Given the description of an element on the screen output the (x, y) to click on. 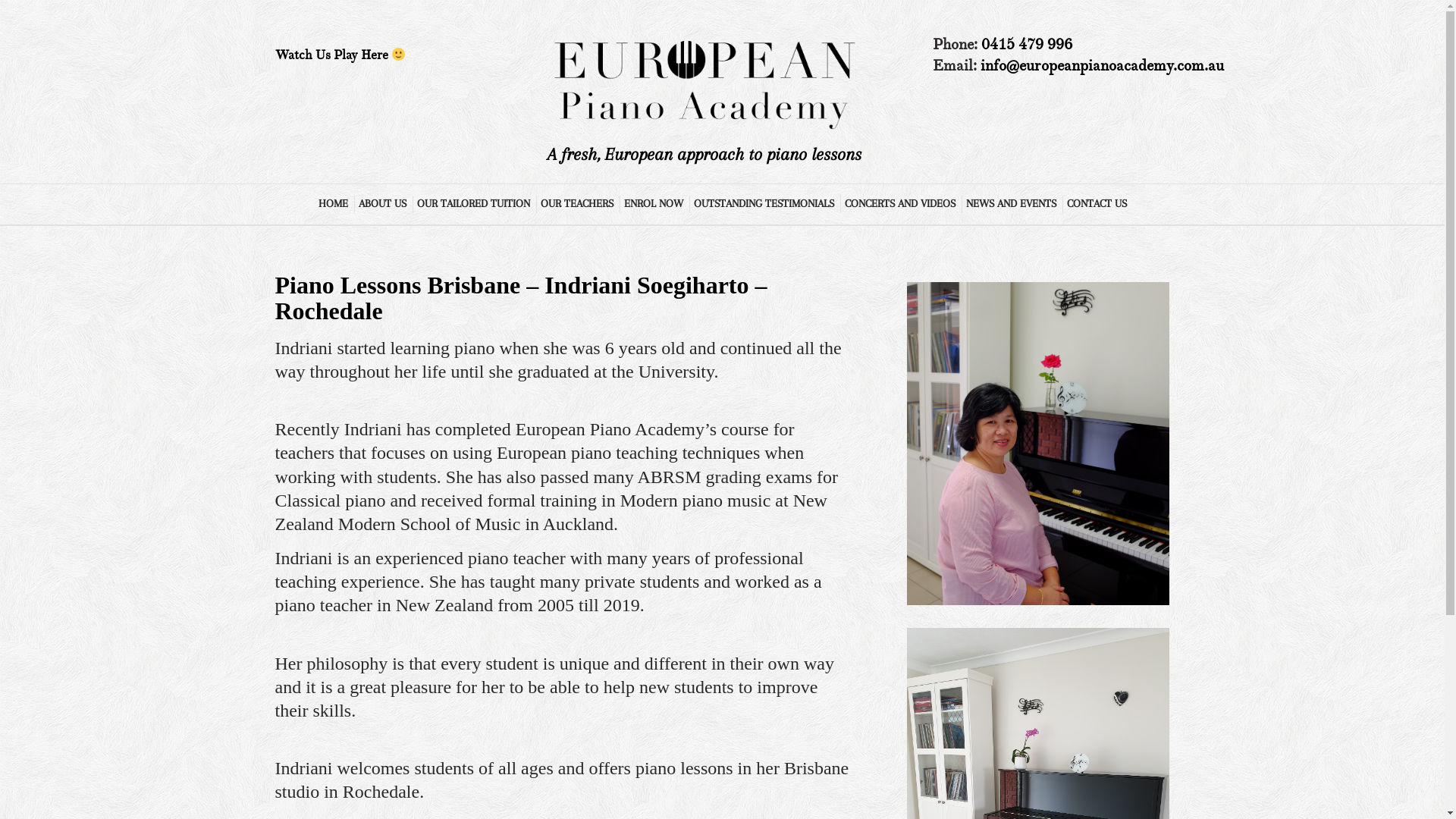
Watch Us Play Here Element type: text (339, 54)
CONTACT US Element type: text (1095, 203)
OUR TAILORED TUITION Element type: text (472, 203)
OUR TEACHERS Element type: text (575, 203)
NEWS AND EVENTS Element type: text (1010, 203)
ENROL NOW Element type: text (652, 203)
HOME Element type: text (332, 203)
info@europeanpianoacademy.com.au Element type: text (1101, 65)
OUTSTANDING TESTIMONIALS Element type: text (762, 203)
CONCERTS AND VIDEOS Element type: text (899, 203)
ABOUT US Element type: text (381, 203)
